Given the description of an element on the screen output the (x, y) to click on. 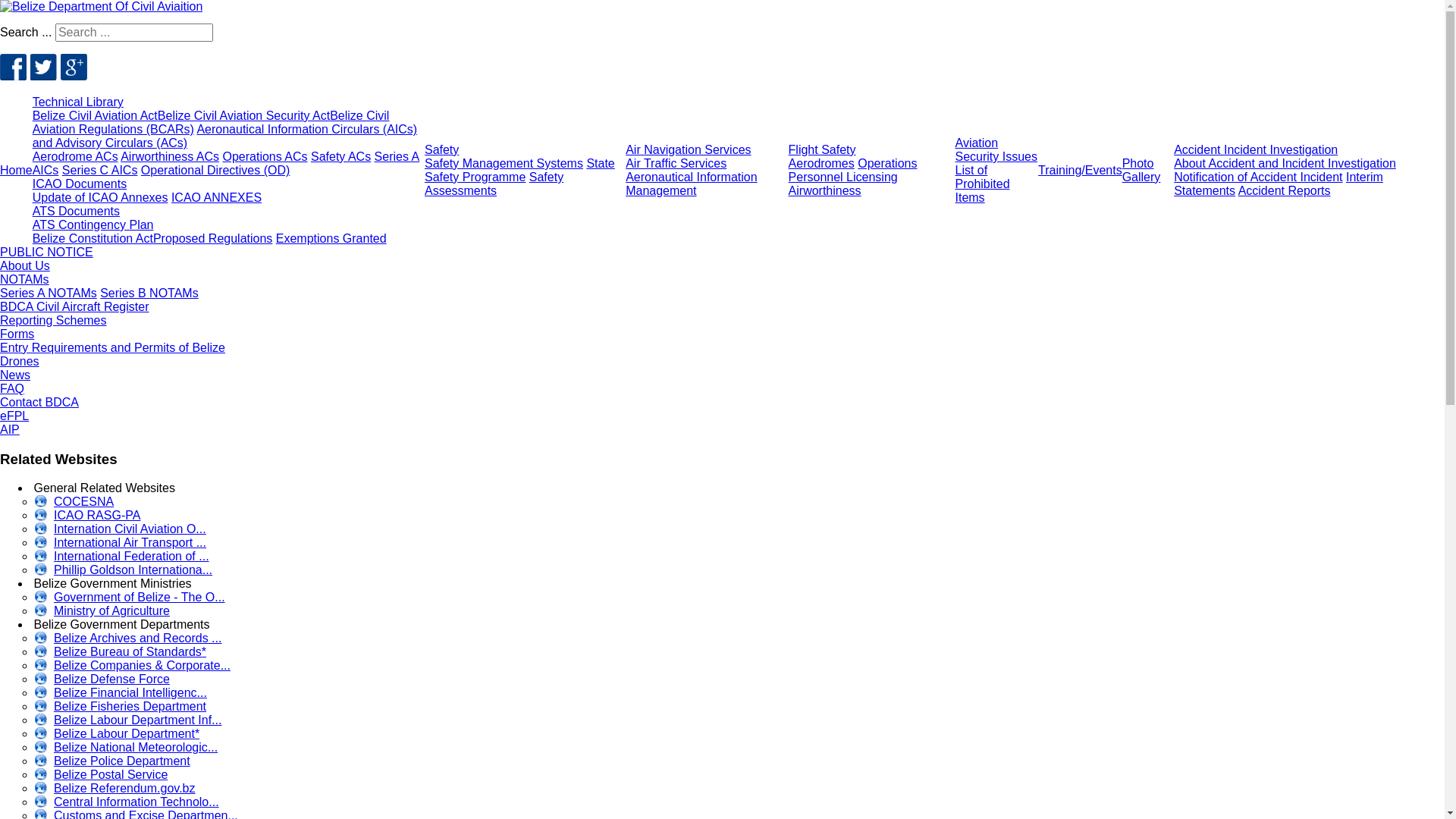
Belize Labour Department Inf... Element type: text (127, 721)
ICAO ANNEXES Element type: text (216, 197)
International Air Transport ... Element type: text (120, 544)
Personnel Licensing Element type: text (842, 176)
Belize Financial Intelligenc... Element type: text (120, 694)
Belize Referendum.gov.bz Element type: text (114, 789)
State Safety Programme Element type: text (519, 169)
Airworthiness ACs Element type: text (169, 156)
Reporting Schemes Element type: text (53, 319)
Series B NOTAMs Element type: text (149, 292)
Airworthiness Element type: text (824, 190)
Drones Element type: text (19, 360)
Proposed Regulations Element type: text (212, 238)
Training/Events Element type: text (1080, 169)
Belize Archives and Records ... Element type: text (127, 639)
Operations ACs Element type: text (264, 156)
NOTAMs Element type: text (24, 279)
ICAO RASG-PA Element type: text (87, 516)
Belize Civil Aviation Security Act Element type: text (243, 115)
Belize Constitution Act Element type: text (92, 238)
Aerodrome ACs Element type: text (75, 156)
BDCA Civil Aircraft Register Element type: text (74, 306)
Central Information Technolo... Element type: text (126, 803)
List of Prohibited Items Element type: text (982, 183)
Air Traffic Services Element type: text (675, 162)
Home Element type: text (16, 169)
Government of Belize - The O... Element type: text (129, 598)
Forms Element type: text (17, 333)
Technical Library Element type: text (77, 101)
ICAO Documents Element type: text (79, 183)
Belize Companies & Corporate... Element type: text (132, 666)
Safety Element type: text (441, 149)
Belize Postal Service Element type: text (100, 776)
FAQ Element type: text (12, 388)
Ministry of Agriculture Element type: text (101, 612)
International Federation of ... Element type: text (121, 557)
Update of ICAO Annexes Element type: text (100, 197)
Air Navigation Services Element type: text (687, 149)
Series A NOTAMs Element type: text (48, 292)
Aviation Security Issues Element type: text (996, 149)
COCESNA Element type: text (73, 503)
Belize Police Department Element type: text (112, 762)
Aeronautical Information Management Element type: text (690, 183)
Accident Incident Investigation Element type: text (1255, 149)
Series C AICs Element type: text (100, 169)
About Accident and Incident Investigation Element type: text (1284, 162)
Operations Element type: text (886, 162)
Belize Labour Department* Element type: text (116, 735)
Exemptions Granted Element type: text (331, 238)
PUBLIC NOTICE Element type: text (46, 251)
Belize Civil Aviation Act Element type: text (94, 115)
Belize Bureau of Standards* Element type: text (120, 653)
Photo Gallery Element type: text (1141, 169)
About Us Element type: text (25, 265)
Accident Reports Element type: text (1284, 190)
eFPL Element type: text (14, 415)
News Element type: text (15, 374)
Safety Assessments Element type: text (493, 183)
ATS Documents Element type: text (75, 210)
Notification of Accident Incident Element type: text (1257, 176)
Belize National Meteorologic... Element type: text (125, 748)
AIP Element type: text (9, 429)
Contact BDCA Element type: text (39, 401)
Aerodromes Element type: text (821, 162)
Operational Directives (OD) Element type: text (215, 169)
ATS Contingency Plan Element type: text (92, 224)
Flight Safety Element type: text (822, 149)
Phillip Goldson Internationa... Element type: text (123, 571)
Safety Management Systems Element type: text (503, 162)
Interim Statements Element type: text (1278, 183)
Series A AICs Element type: text (226, 163)
Belize Civil Aviation Regulations (BCARs) Element type: text (210, 122)
Belize Fisheries Department Element type: text (120, 707)
Internation Civil Aviation O... Element type: text (120, 530)
Safety ACs Element type: text (340, 156)
Belize Defense Force Element type: text (101, 680)
Entry Requirements and Permits of Belize Element type: text (112, 347)
